Given the description of an element on the screen output the (x, y) to click on. 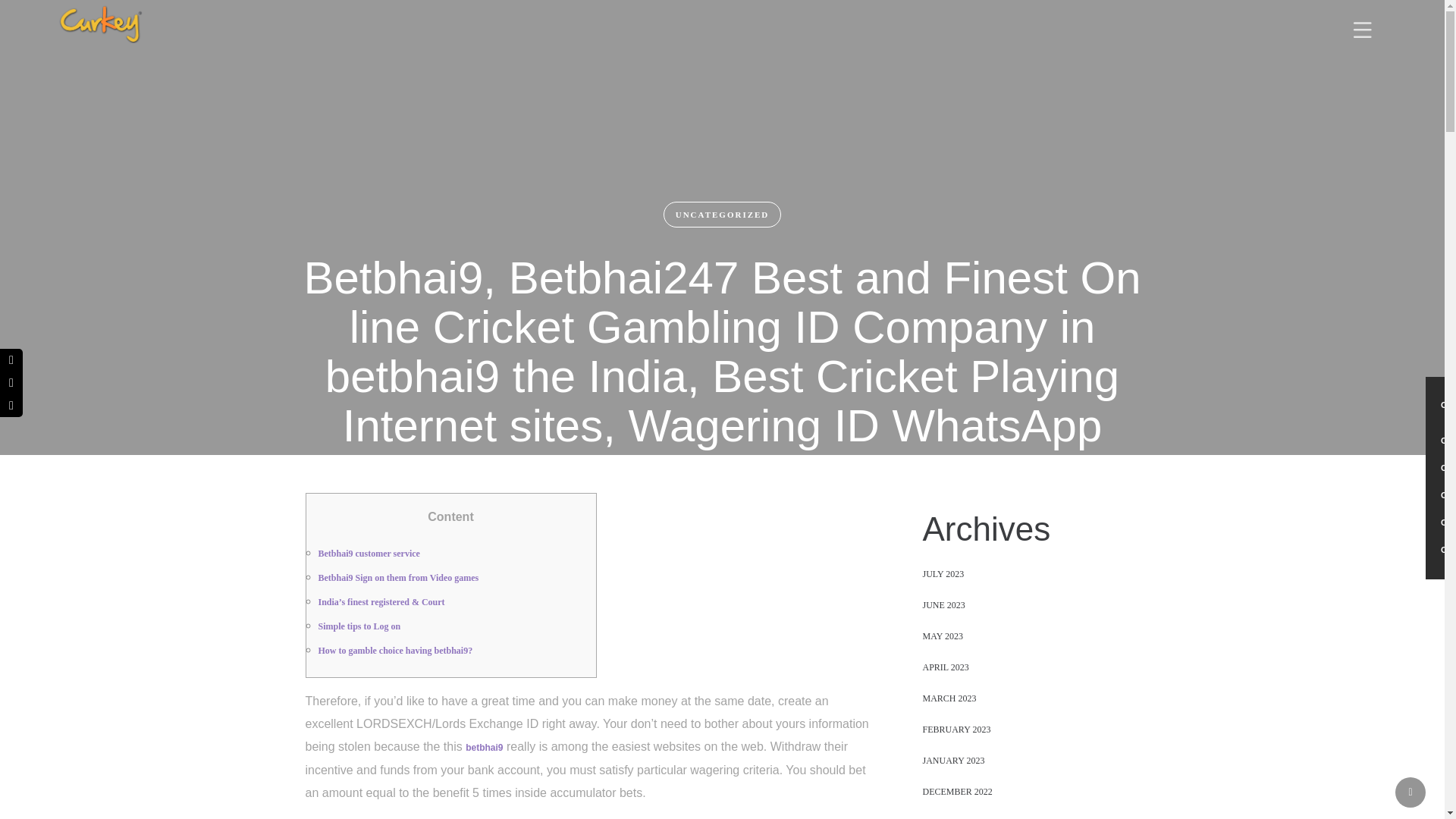
Betbhai9 Sign on them from Video games (398, 577)
betbhai9 (483, 747)
APRIL 2023 (944, 667)
0 COMMENTS (797, 533)
NOVEMBER 2022 (956, 817)
ADMIN (729, 533)
JANUARY 2023 (952, 760)
MAY 2023 (941, 635)
DECEMBER 2022 (956, 791)
UNCATEGORIZED (722, 214)
